Given the description of an element on the screen output the (x, y) to click on. 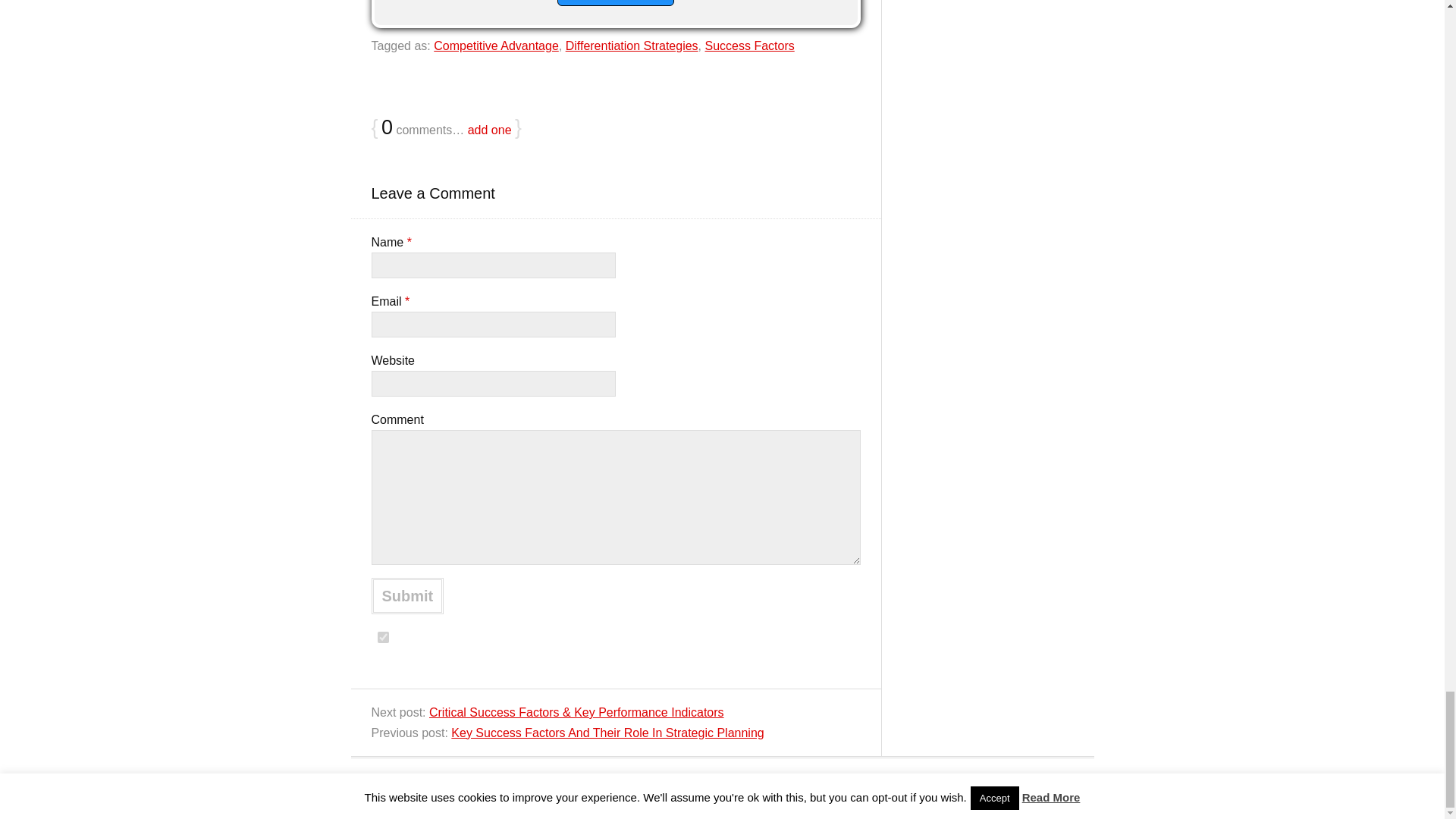
Submit (407, 596)
add one (489, 129)
Submit (407, 596)
Success Factors (748, 45)
Sign Me Up! (614, 2)
Competitive Advantage (496, 45)
on (382, 636)
Differentiation Strategies (632, 45)
Key Success Factors And Their Role In Strategic Planning (606, 732)
